Given the description of an element on the screen output the (x, y) to click on. 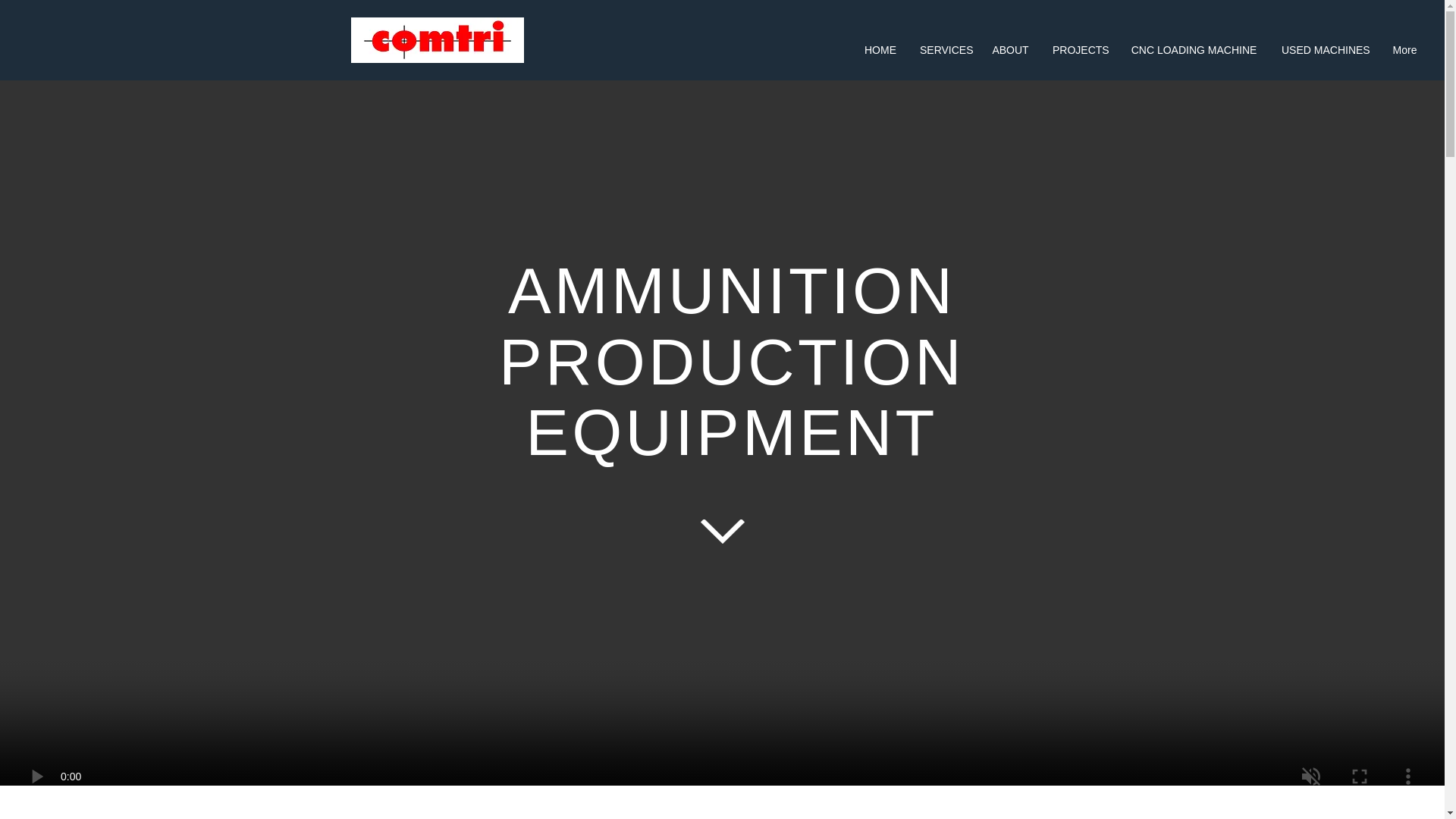
USED MACHINES (1324, 50)
HOME (879, 50)
PROJECTS (1079, 50)
ABOUT (1010, 50)
CNC LOADING MACHINE (1193, 50)
SERVICES (943, 50)
